Given the description of an element on the screen output the (x, y) to click on. 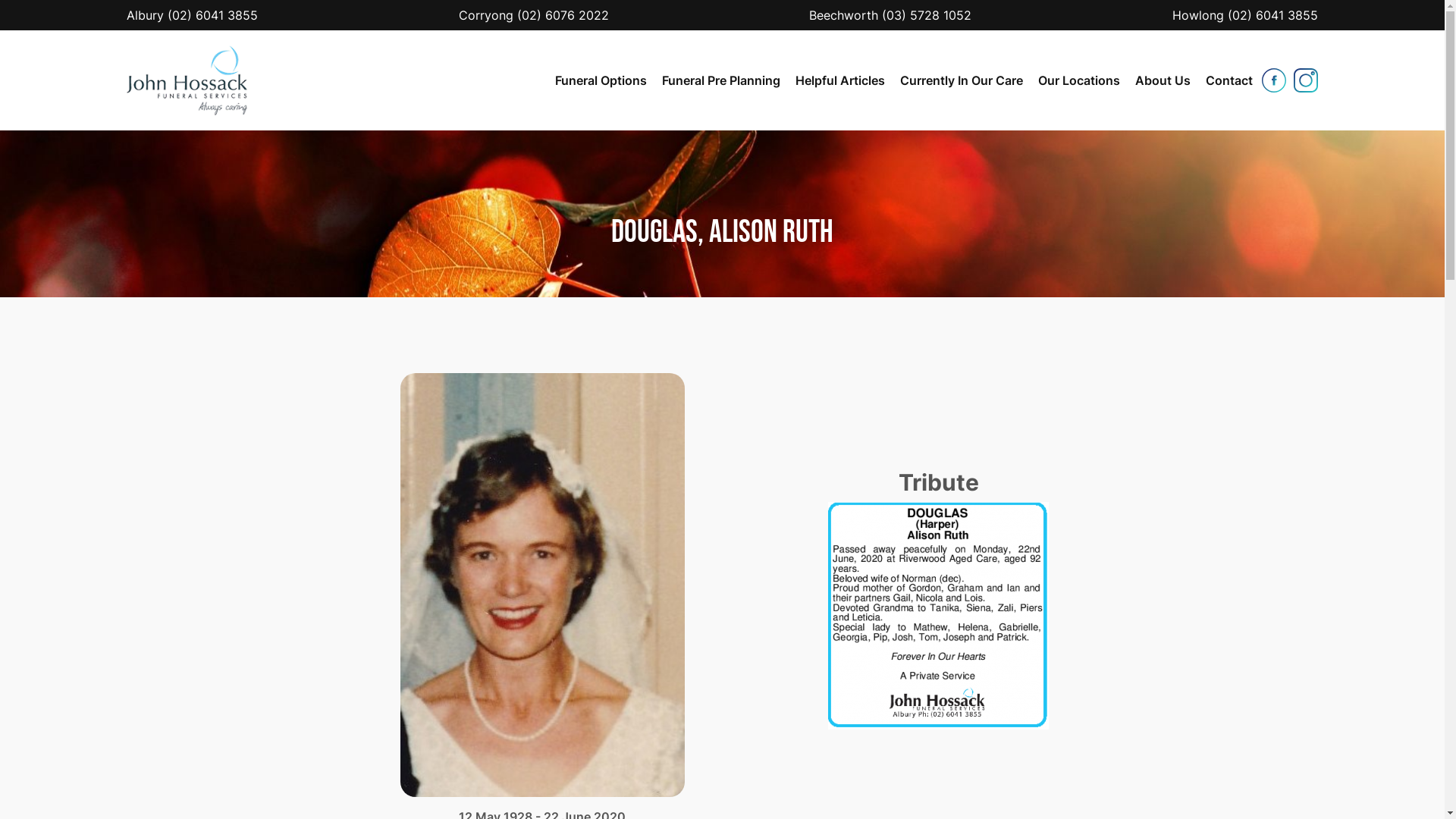
About Us Element type: text (1162, 80)
Beechworth (03) 5728 1052 Element type: text (890, 15)
Howlong (02) 6041 3855 Element type: text (1244, 15)
Funeral Pre Planning Element type: text (721, 80)
Albury (02) 6041 3855 Element type: text (191, 15)
Currently In Our Care Element type: text (961, 80)
Contact Element type: text (1228, 80)
Funeral Options Element type: text (600, 80)
Our Locations Element type: text (1079, 80)
Helpful Articles Element type: text (839, 80)
Corryong (02) 6076 2022 Element type: text (533, 15)
